Given the description of an element on the screen output the (x, y) to click on. 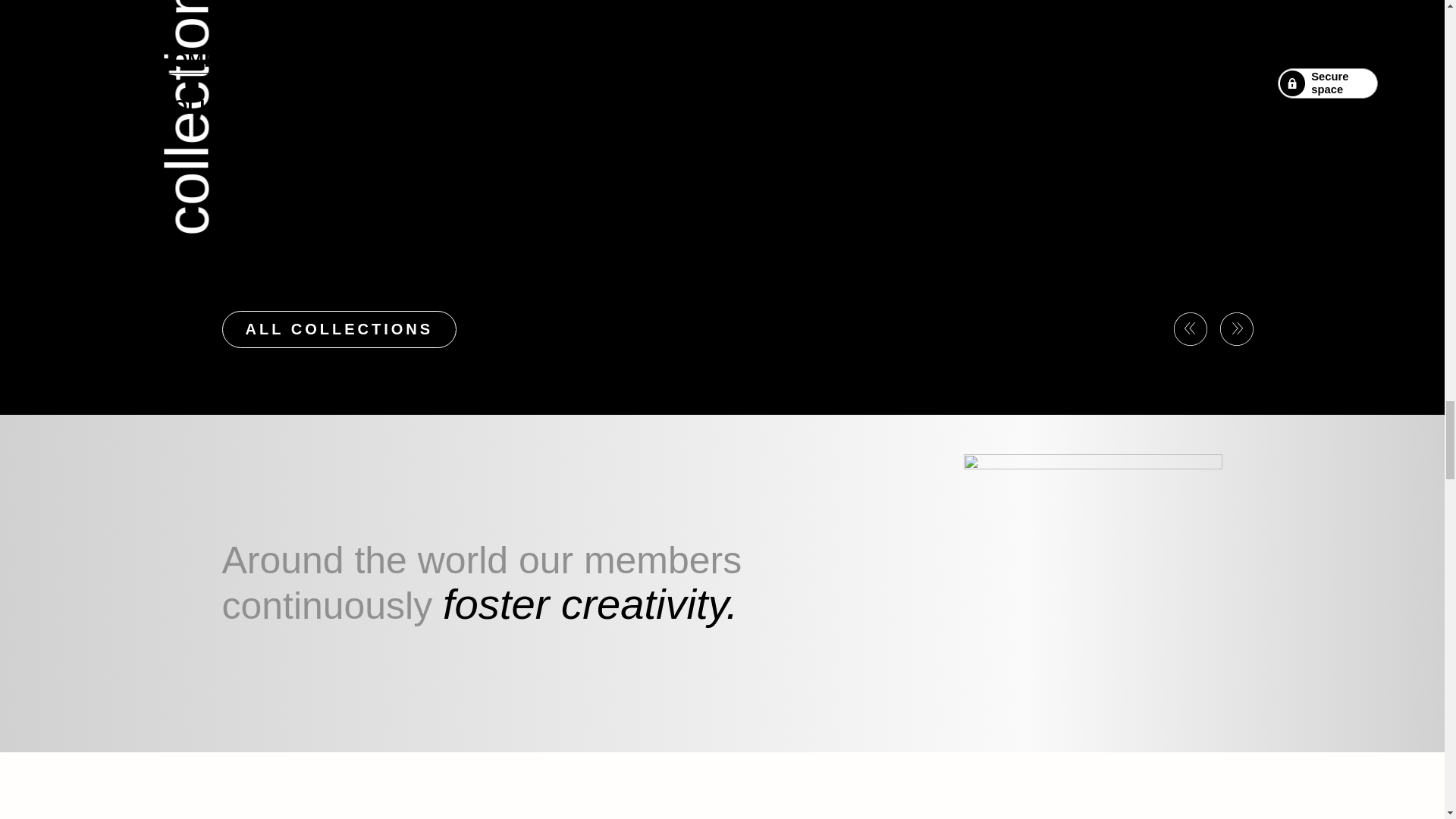
ALL COLLECTIONS (339, 329)
